Given the description of an element on the screen output the (x, y) to click on. 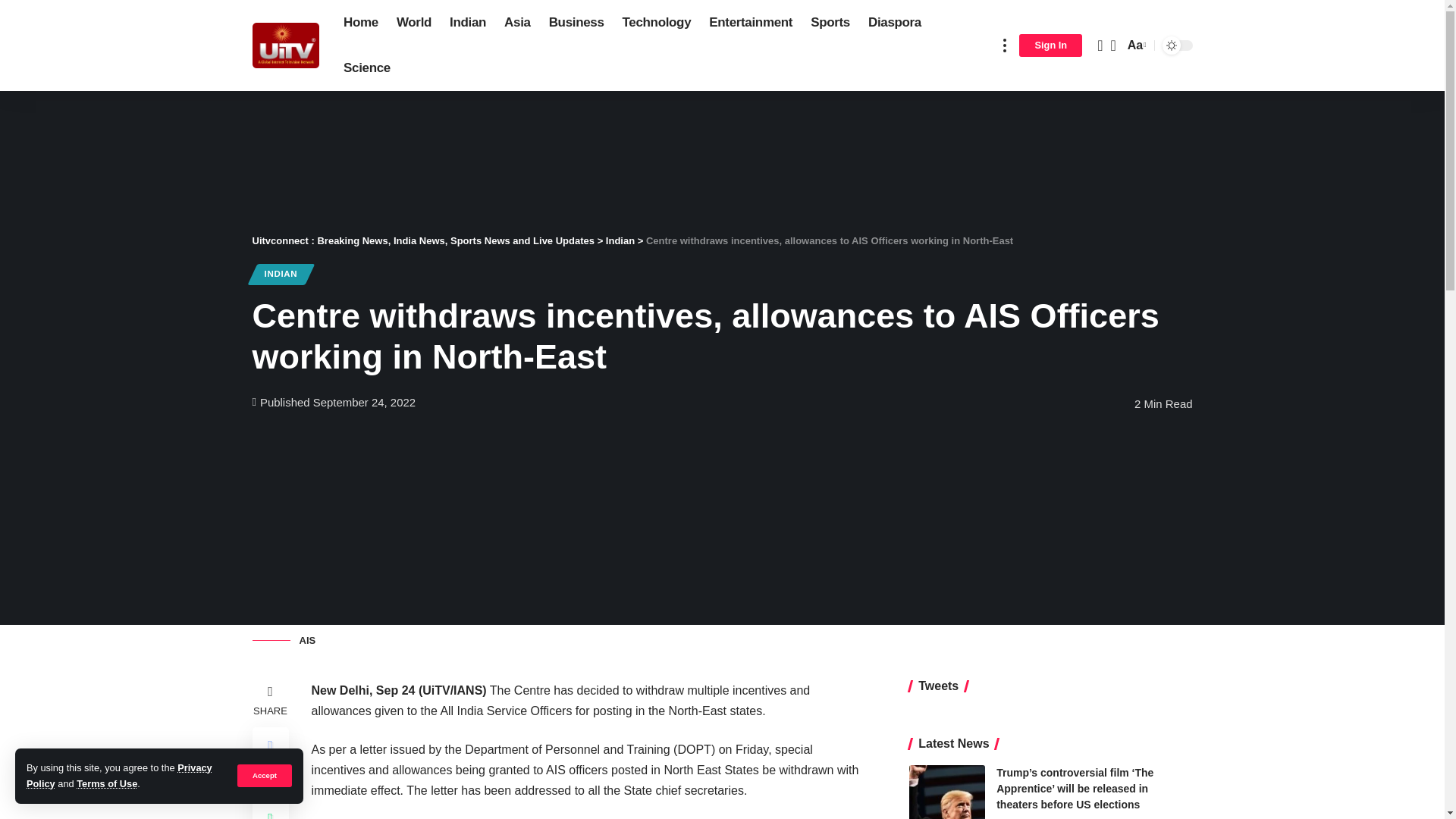
Asia (517, 22)
Privacy Policy (119, 775)
Technology (656, 22)
Terms of Use (106, 783)
Indian (468, 22)
Entertainment (751, 22)
Business (576, 22)
Sports (830, 22)
